Given the description of an element on the screen output the (x, y) to click on. 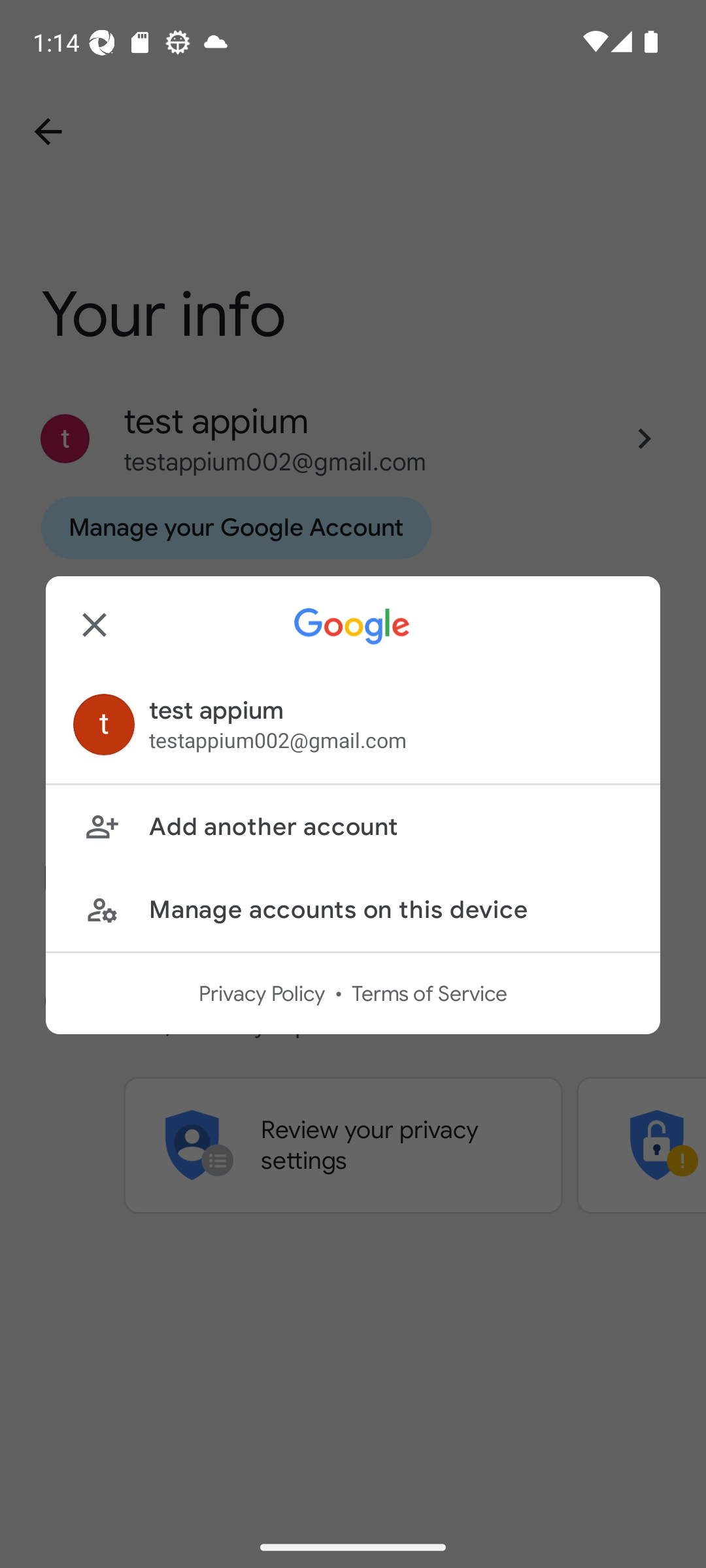
Close (94, 624)
Add another account (352, 826)
Manage accounts on this device (352, 909)
